Given the description of an element on the screen output the (x, y) to click on. 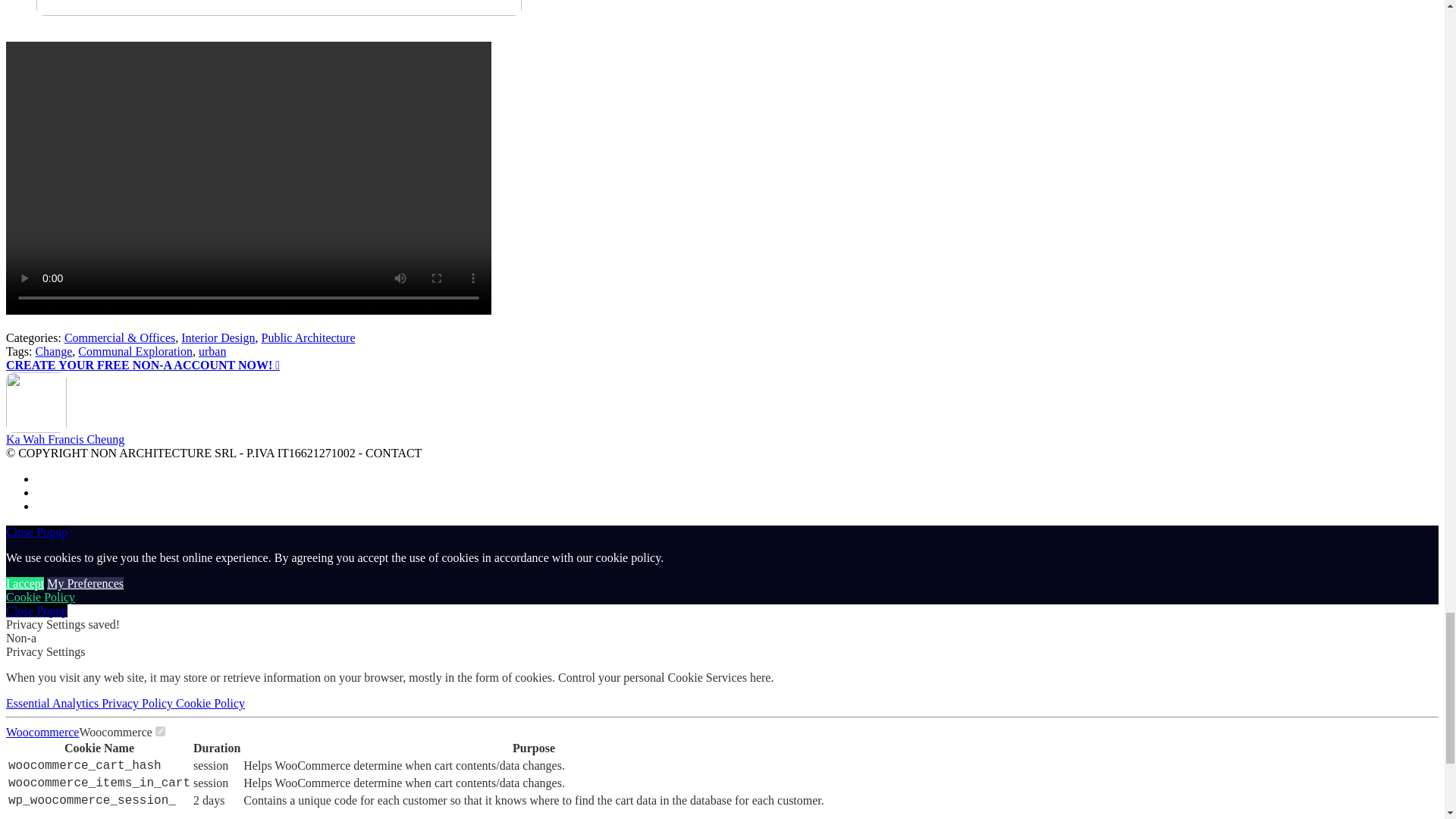
close (35, 610)
on (160, 731)
